Given the description of an element on the screen output the (x, y) to click on. 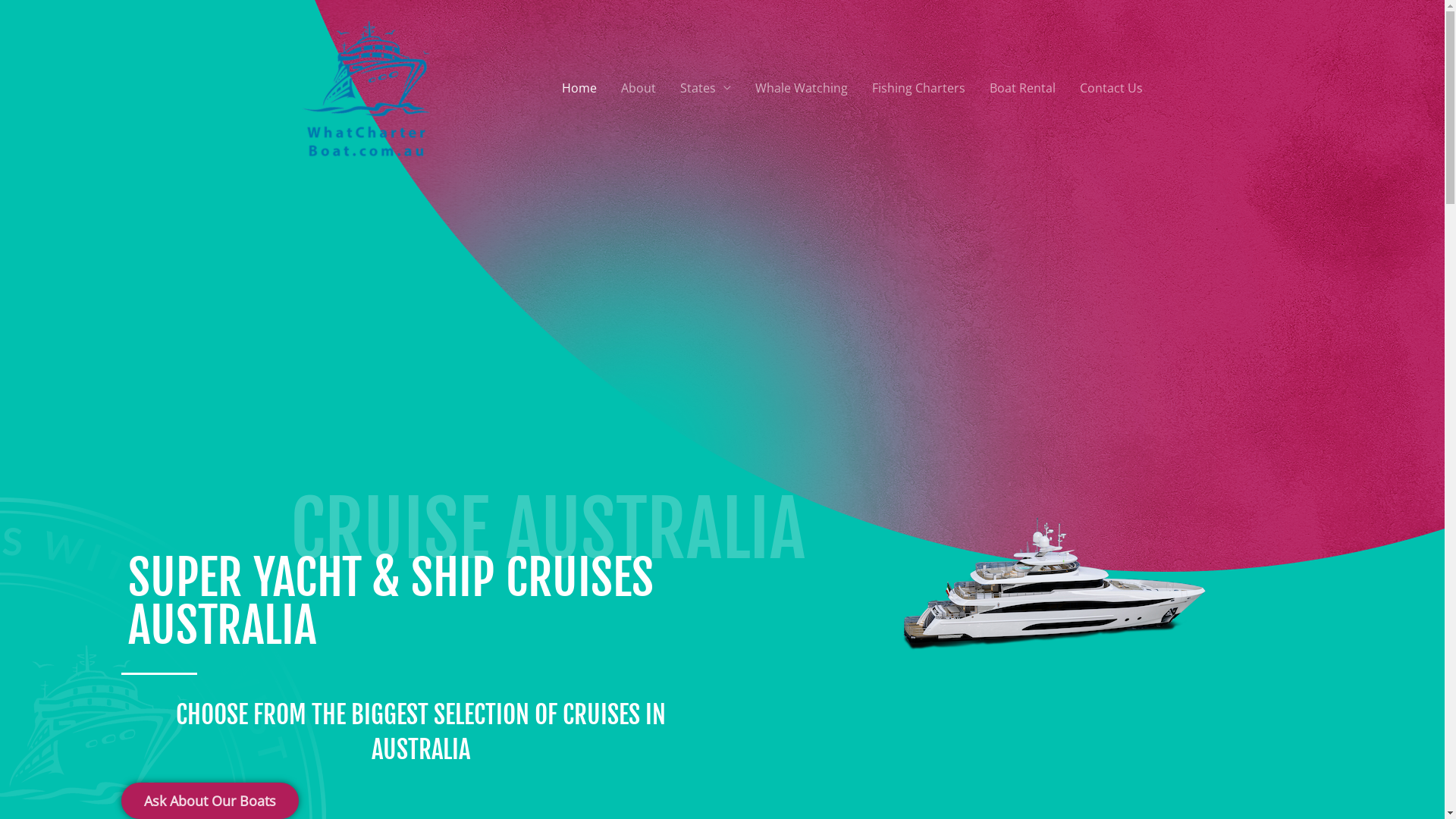
Contact Us Element type: text (1110, 87)
Fishing Charters Element type: text (918, 87)
Whale Watching Element type: text (801, 87)
Boat Rental Element type: text (1021, 87)
About Element type: text (637, 87)
Home Element type: text (578, 87)
States Element type: text (704, 87)
